Given the description of an element on the screen output the (x, y) to click on. 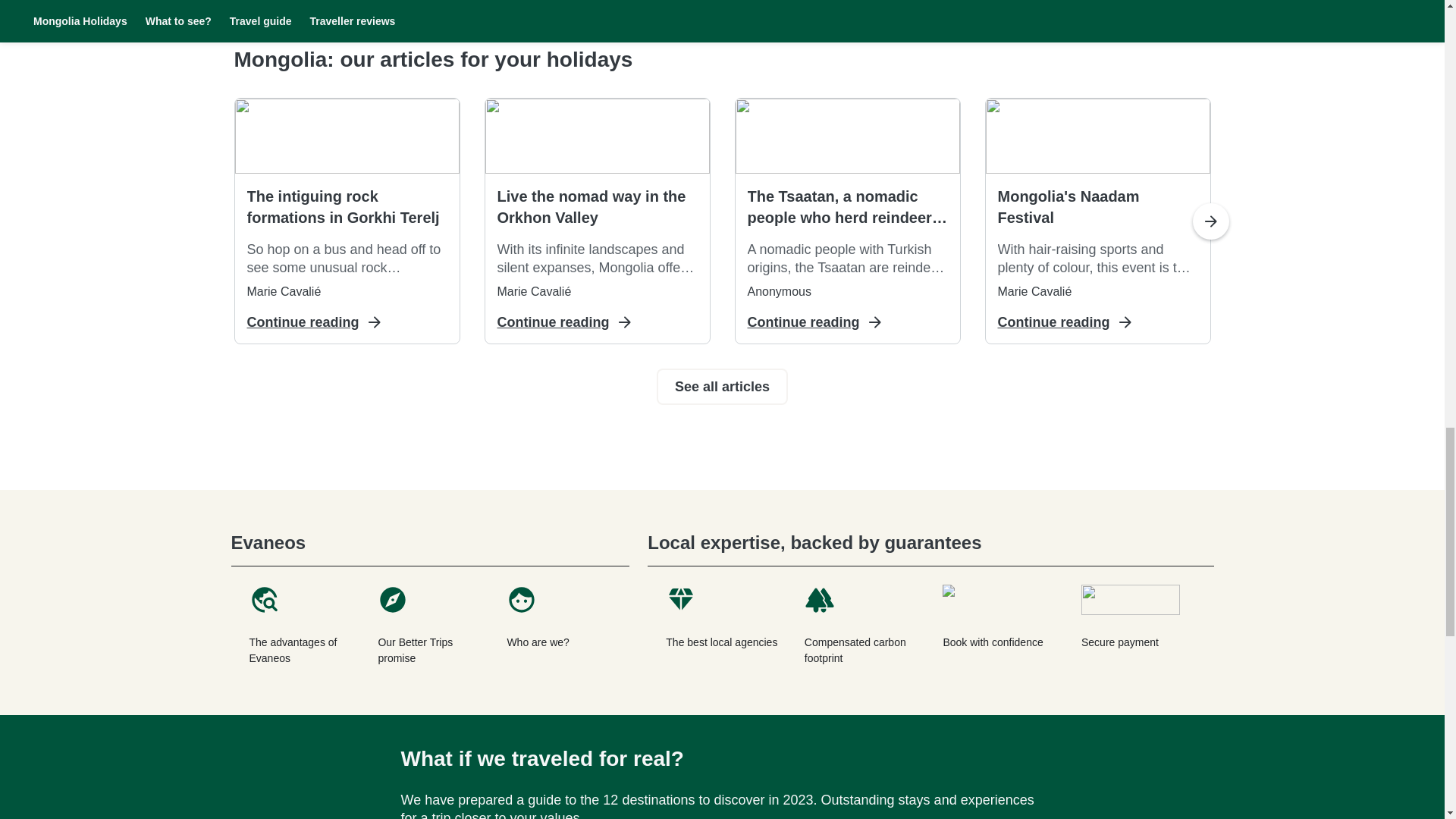
Our Better Trips promise (430, 625)
The Tsaatan, a nomadic people who herd reindeer in the Taiga (847, 206)
Mongolia's Naadam Festival (1097, 206)
The intiguing rock formations in Gorkhi Terelj (346, 206)
Who are we? (559, 625)
See all articles (721, 386)
The best local agencies (722, 625)
Live the nomad way in the Orkhon Valley (597, 206)
The advantages of Evaneos (300, 625)
